Given the description of an element on the screen output the (x, y) to click on. 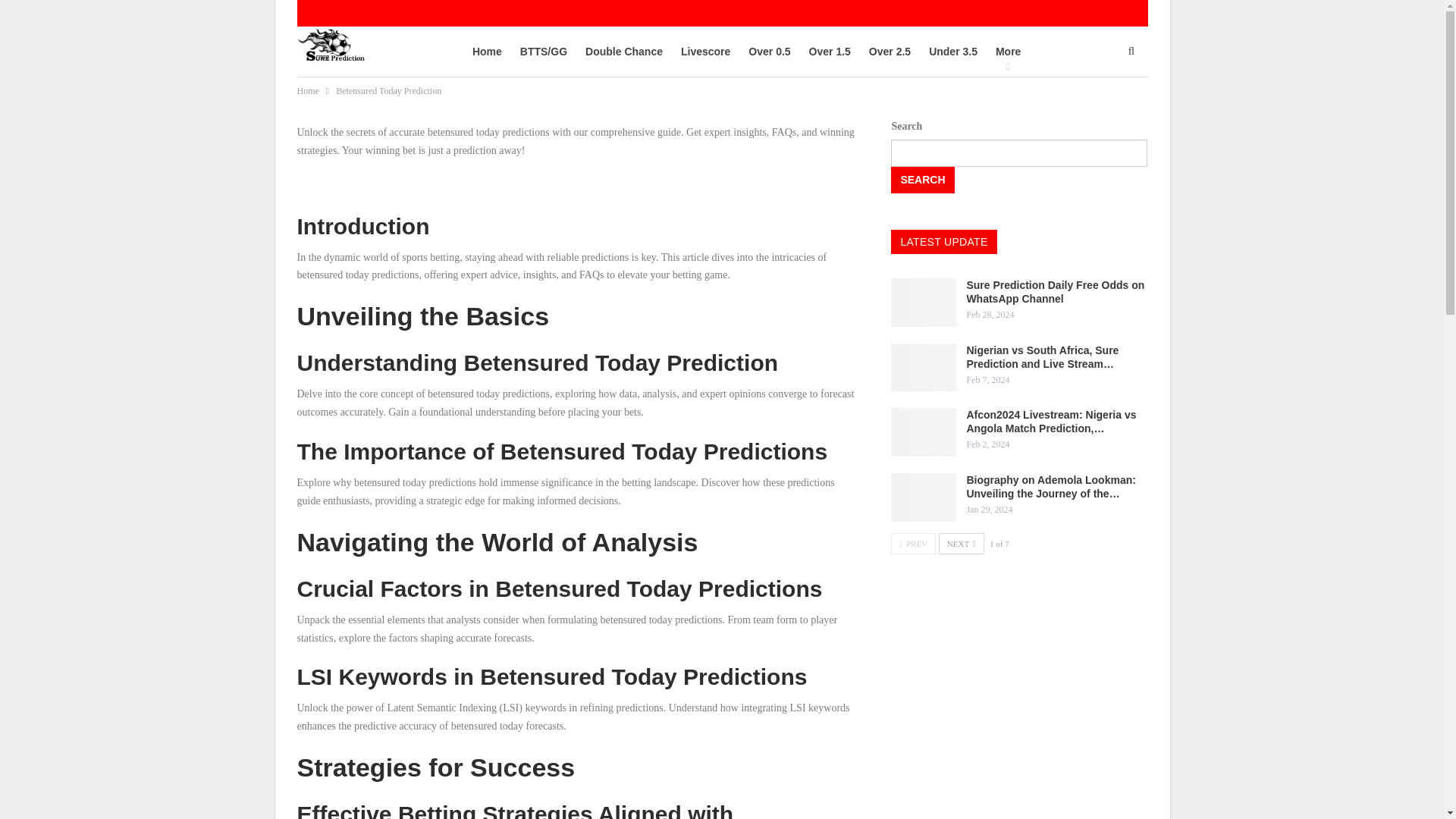
Over 0.5 (768, 51)
Sure Prediction Daily Free Odds on WhatsApp Channel (1055, 291)
Previous (913, 543)
Over 2.5 (889, 51)
LATEST UPDATE (943, 241)
PREV (913, 543)
Double Chance (623, 51)
Over 1.5 (829, 51)
Home (307, 90)
NEXT (961, 543)
SEARCH (922, 180)
Under 3.5 (952, 51)
